Given the description of an element on the screen output the (x, y) to click on. 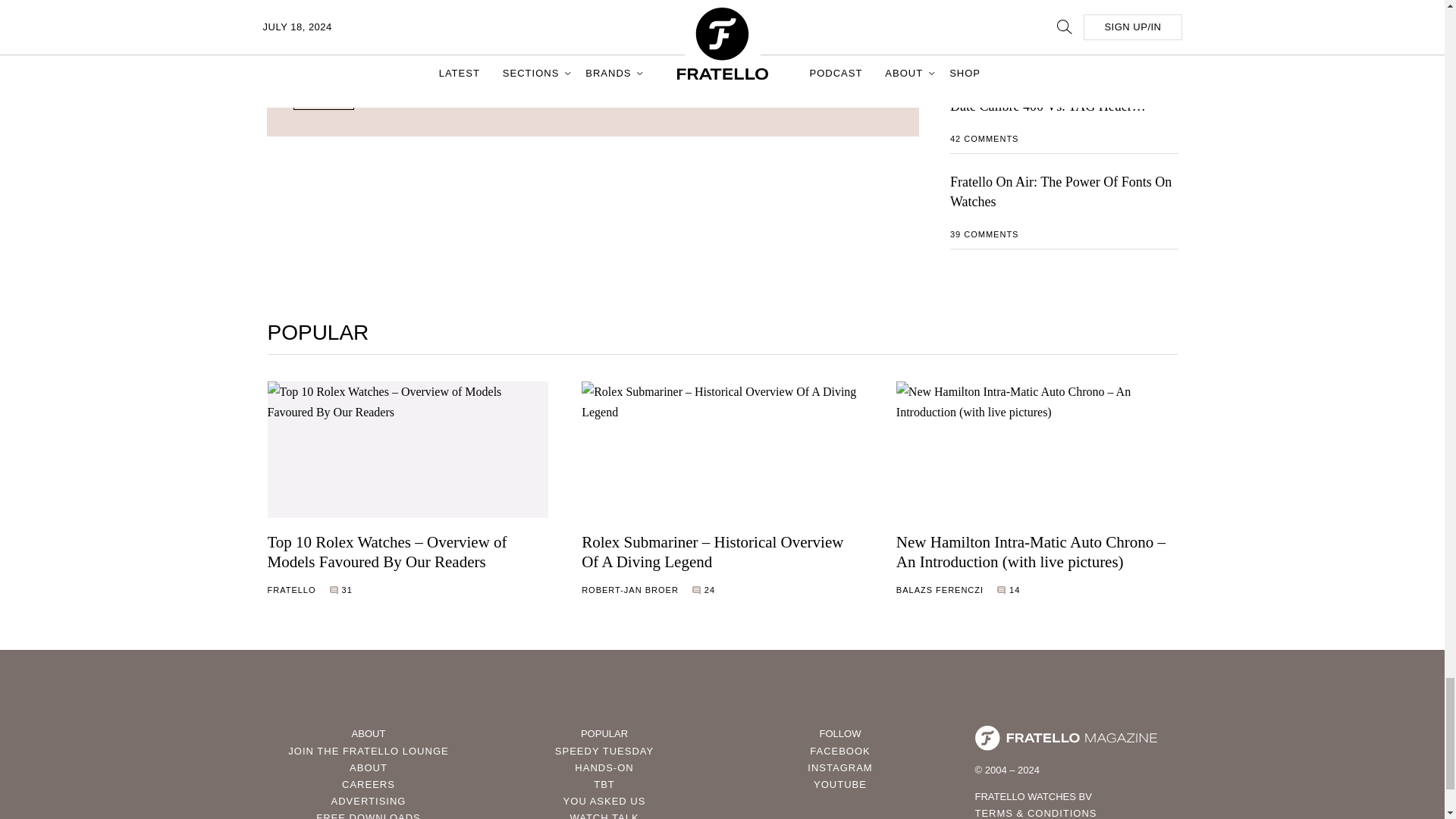
Add comment (335, 22)
